Given the description of an element on the screen output the (x, y) to click on. 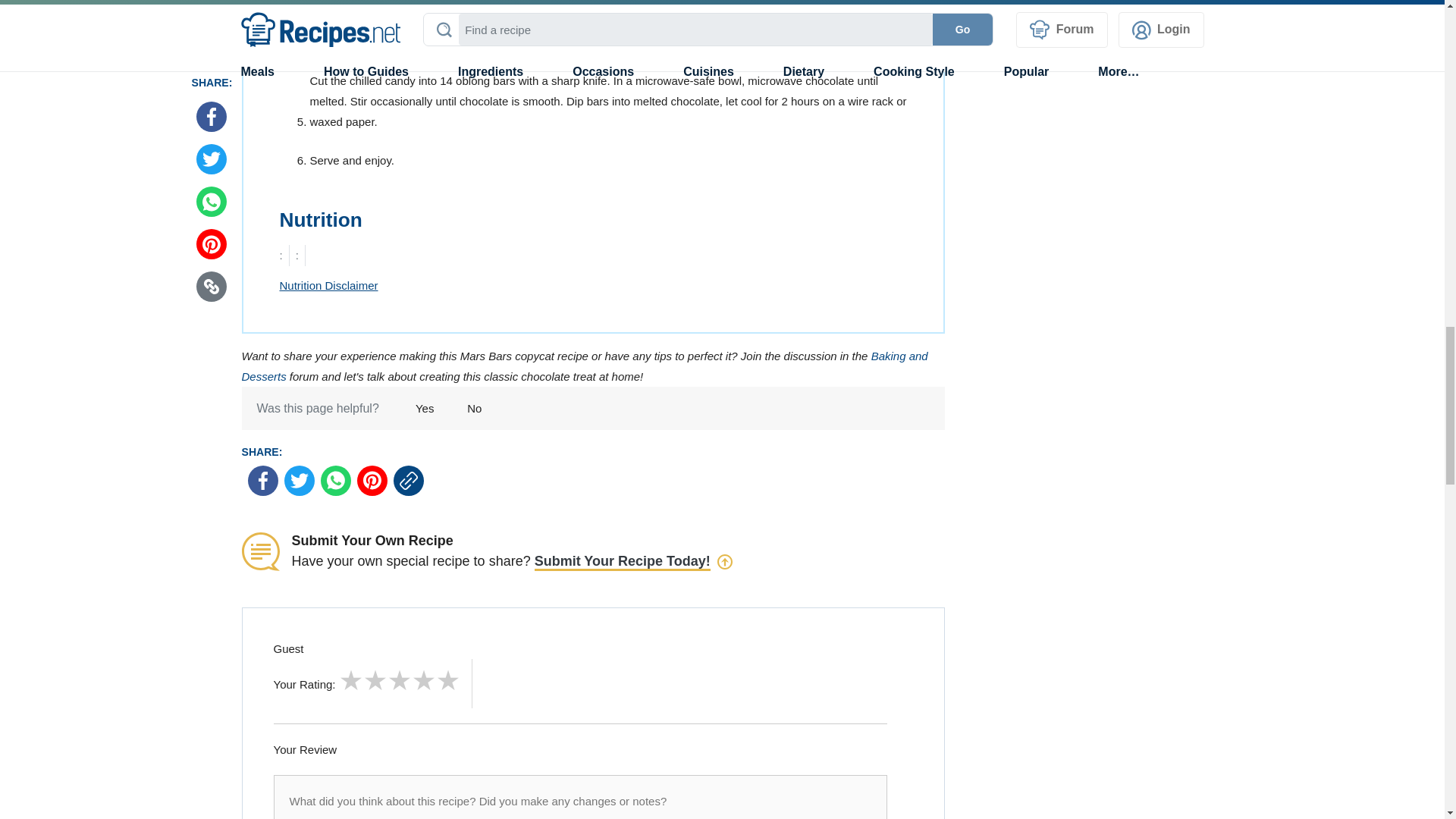
Share on Twitter (298, 481)
Share on WhatsApp (335, 481)
Share on Pinterest (371, 481)
Share on Facebook (262, 481)
